Given the description of an element on the screen output the (x, y) to click on. 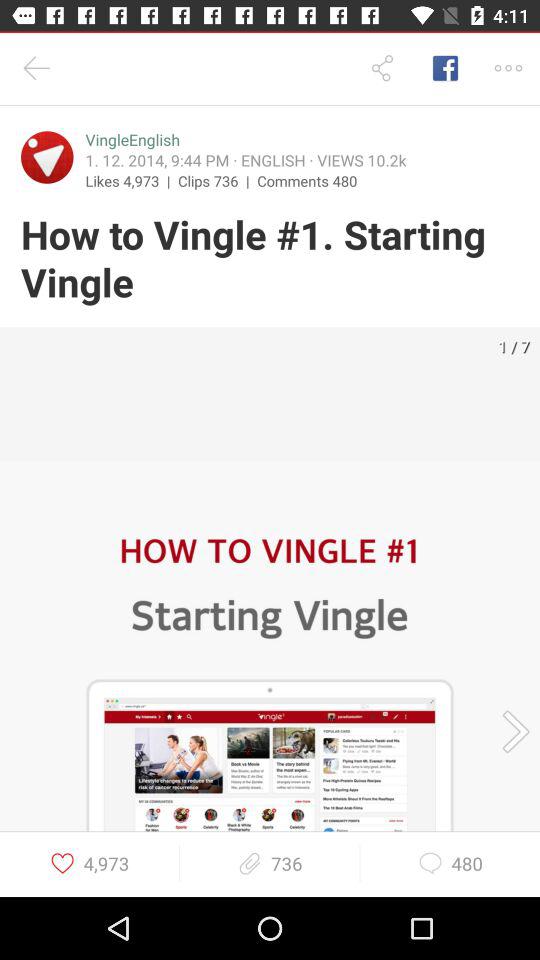
next page (509, 731)
